Given the description of an element on the screen output the (x, y) to click on. 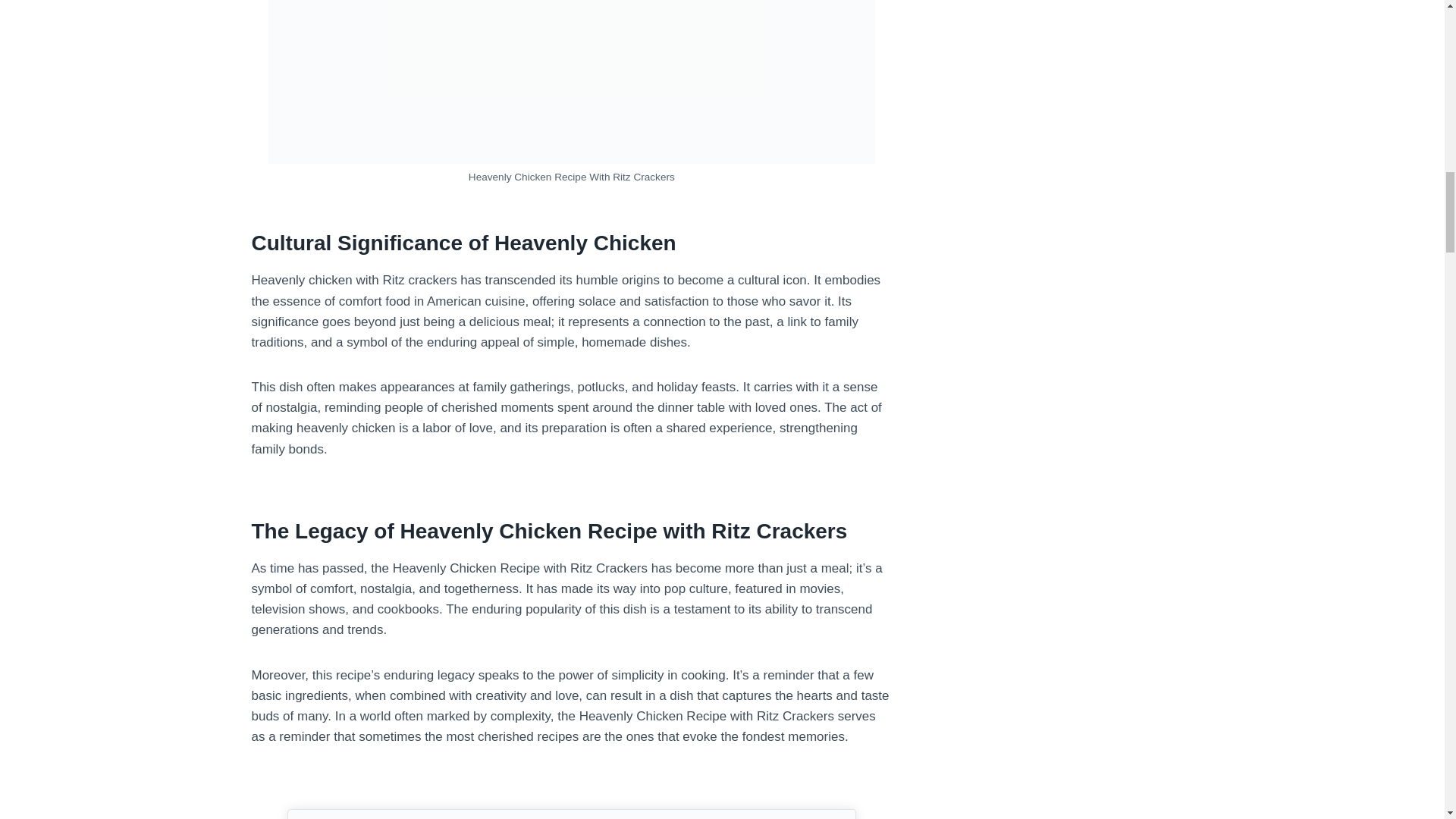
Heavenly Chicken Recipe With Ritz Crackers 2 (571, 81)
Heavenly Chicken Recipe With Ritz Crackers 3 (571, 814)
